Given the description of an element on the screen output the (x, y) to click on. 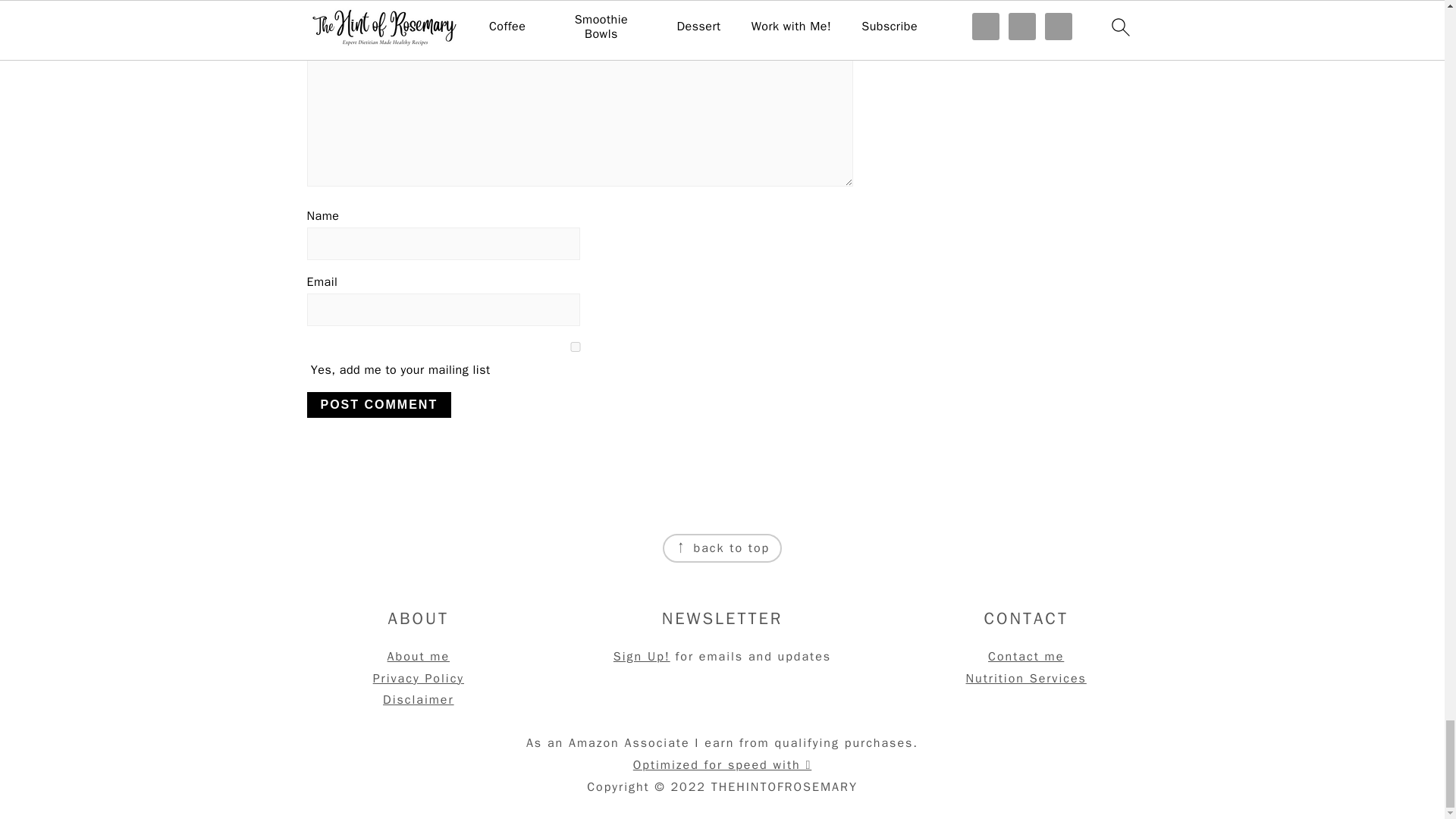
Post Comment (378, 404)
1 (574, 347)
